Given the description of an element on the screen output the (x, y) to click on. 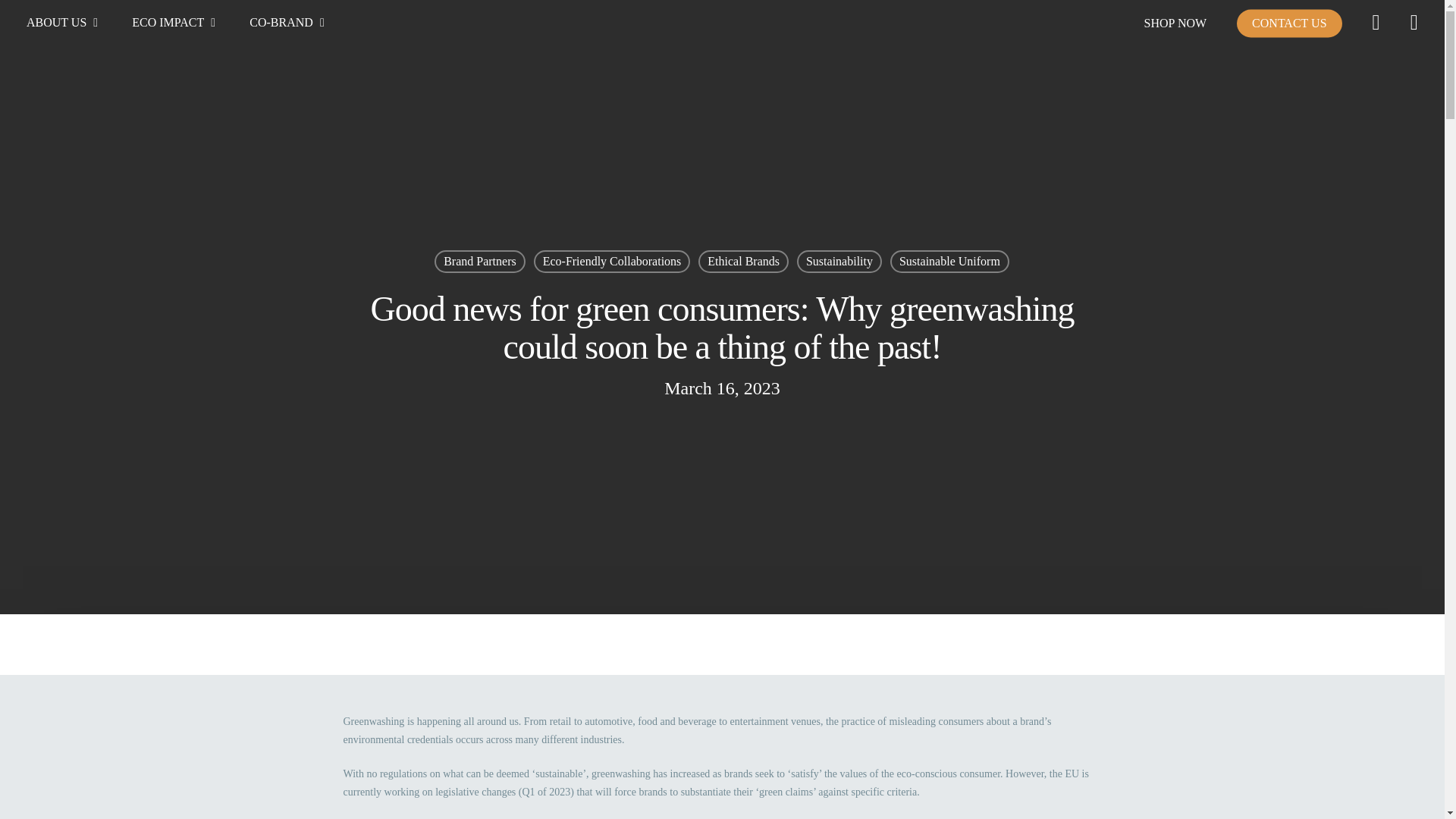
CO-BRAND (288, 22)
ABOUT US (63, 22)
ECO IMPACT (175, 22)
SHOP NOW (1175, 23)
CONTACT US (1288, 23)
